Given the description of an element on the screen output the (x, y) to click on. 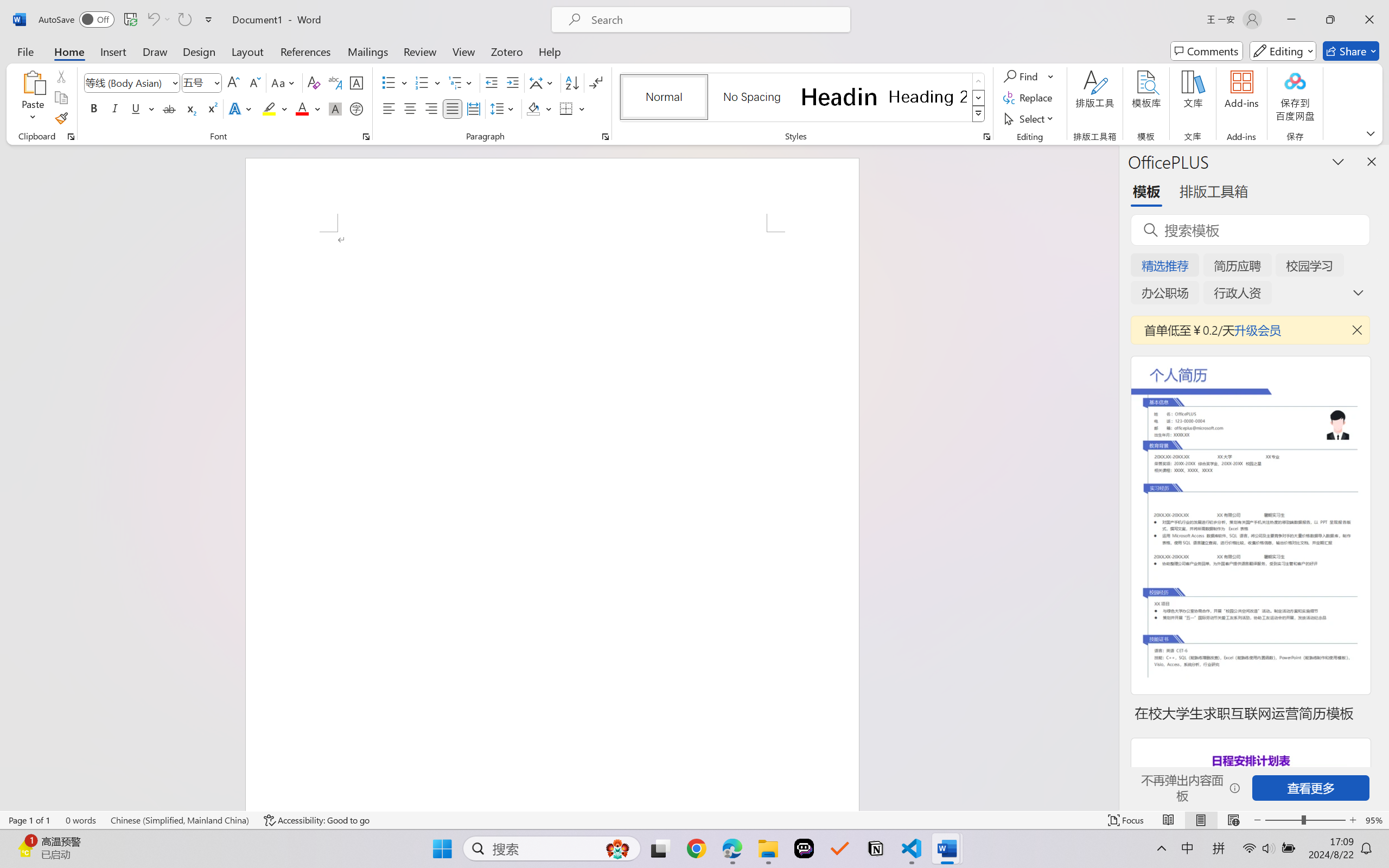
AutomationID: QuickStylesGallery (802, 97)
